Given the description of an element on the screen output the (x, y) to click on. 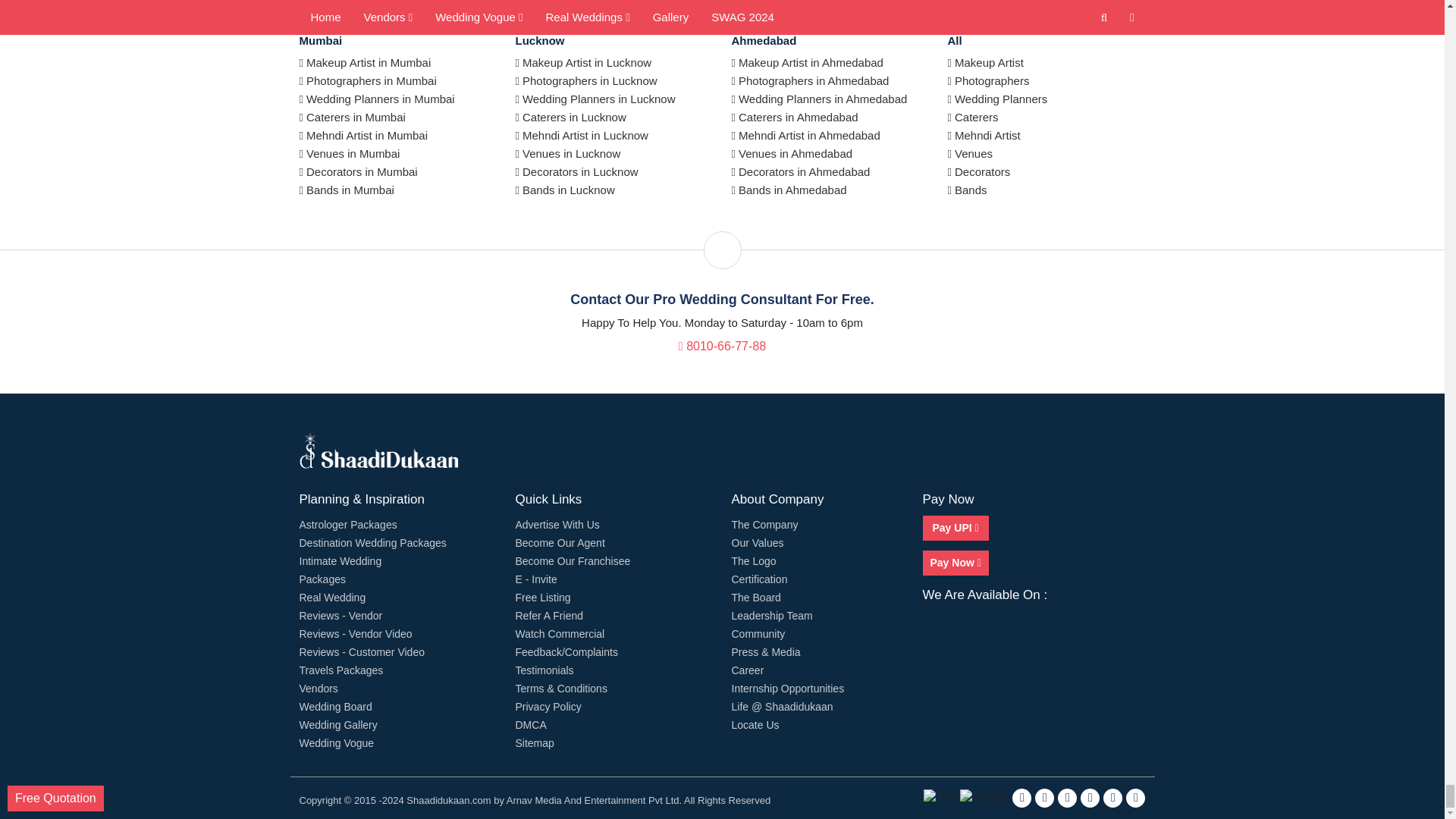
Astrologer (347, 524)
Customer Reviews (360, 652)
Intimate Wedding (339, 561)
Vendor Reviews (355, 633)
Vendor Reviews (339, 615)
Destination Wedding Packages (371, 542)
Real Wedding (331, 597)
Travels (340, 670)
Packages (321, 579)
